Given the description of an element on the screen output the (x, y) to click on. 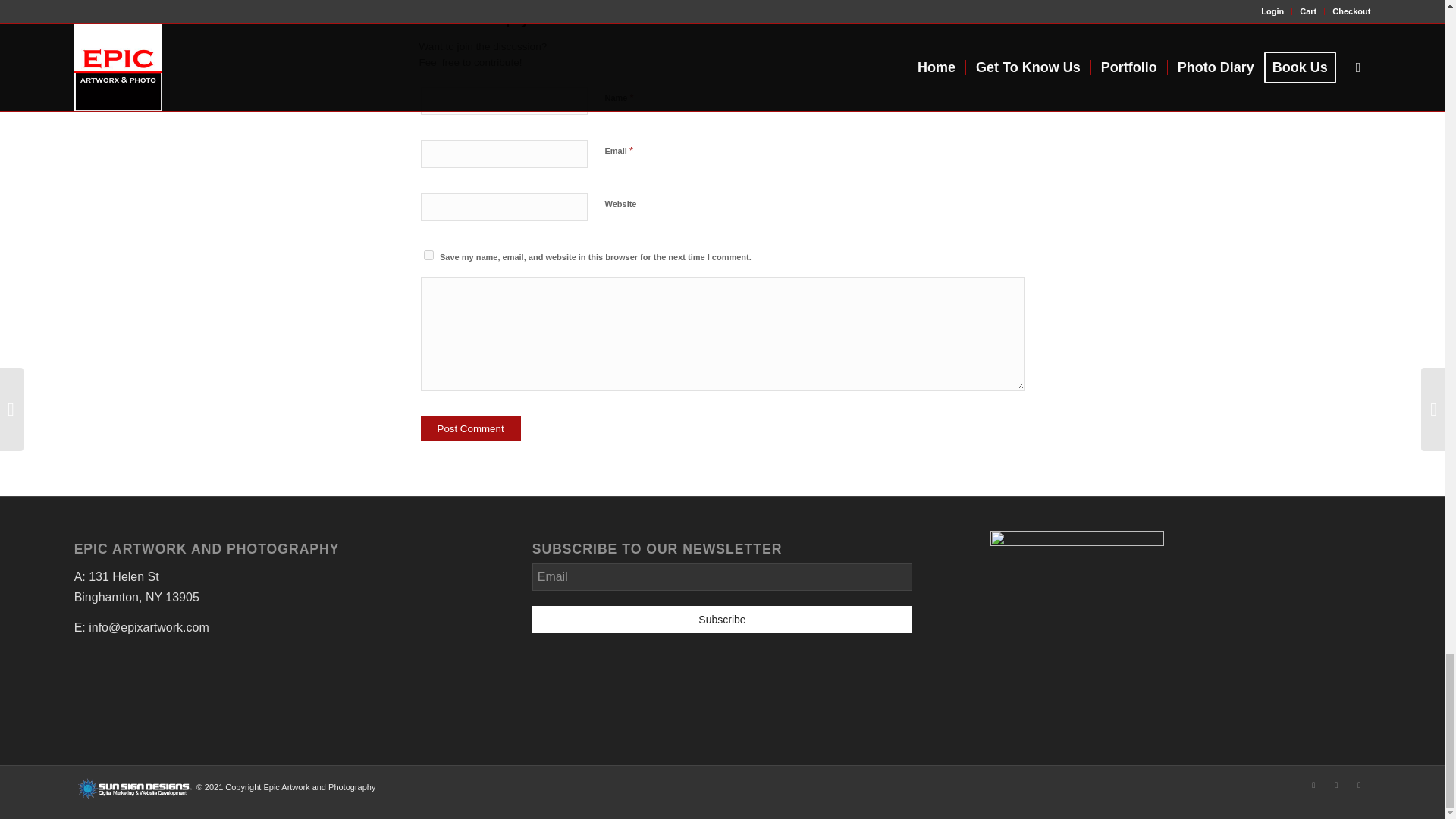
Subscribe (722, 619)
Post Comment (469, 428)
Post Comment (469, 428)
Subscribe (722, 619)
yes (427, 255)
Facebook (1312, 784)
Sun Sign Designs  (135, 796)
Twitter (1359, 784)
Instagram (1336, 784)
